Given the description of an element on the screen output the (x, y) to click on. 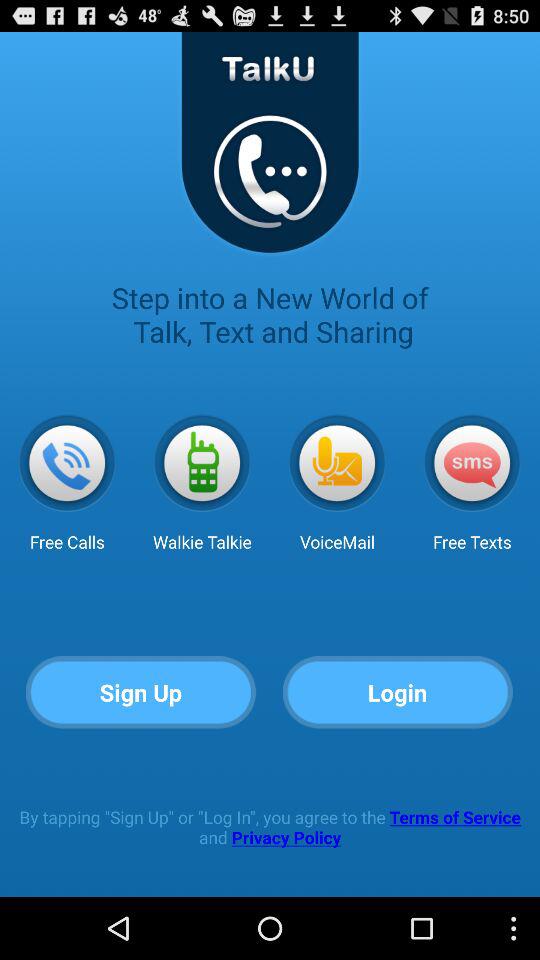
open the item above the by tapping sign icon (398, 692)
